Given the description of an element on the screen output the (x, y) to click on. 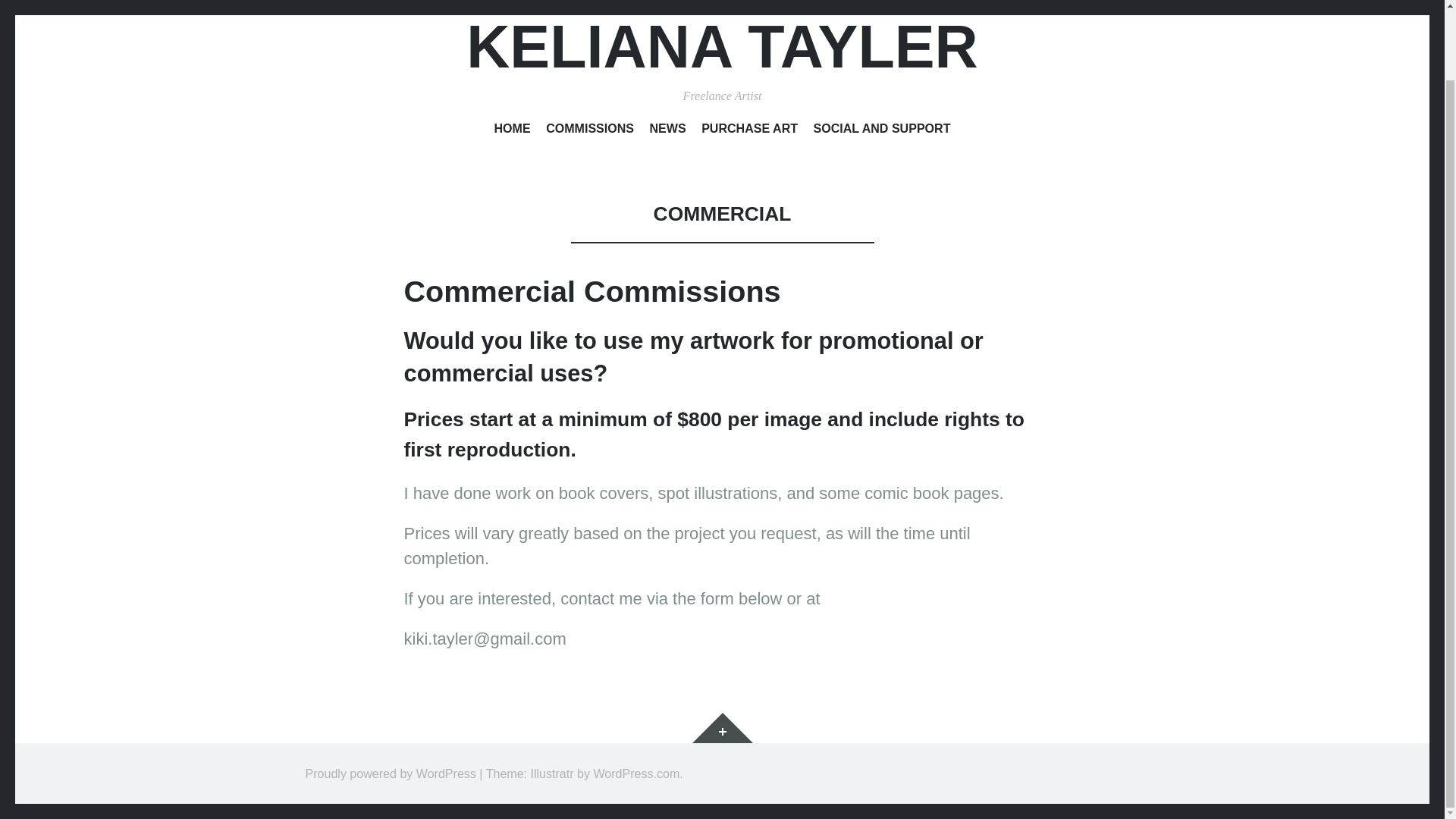
Proudly powered by WordPress (390, 773)
SOCIAL AND SUPPORT (881, 130)
KELIANA TAYLER (721, 46)
COMMISSIONS (589, 130)
NEWS (667, 130)
Widgets (721, 727)
WordPress.com (635, 773)
PURCHASE ART (749, 130)
HOME (513, 130)
